Given the description of an element on the screen output the (x, y) to click on. 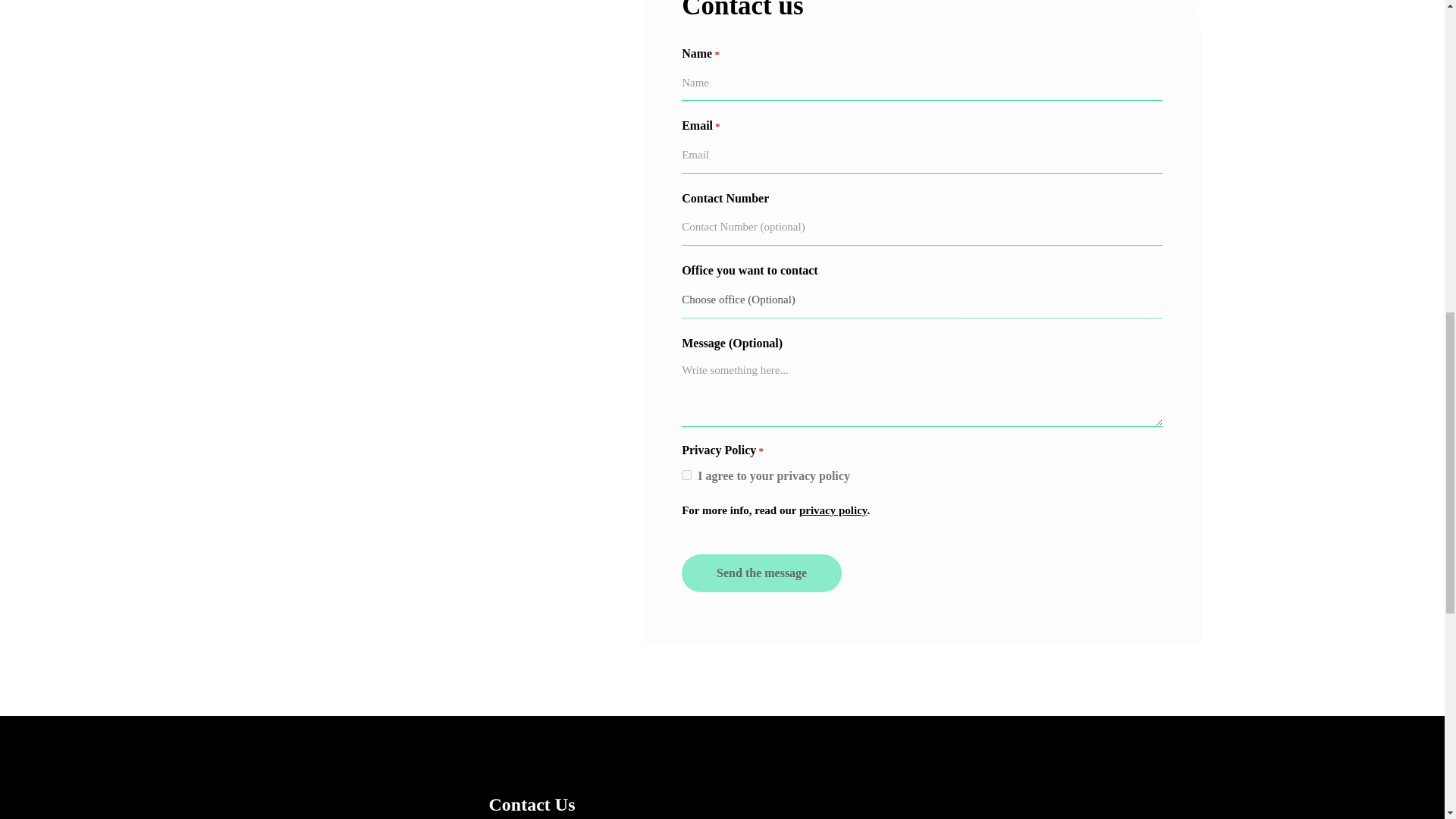
Send the message (761, 573)
privacy policy (833, 510)
I agree to your privacy policy (686, 474)
